Given the description of an element on the screen output the (x, y) to click on. 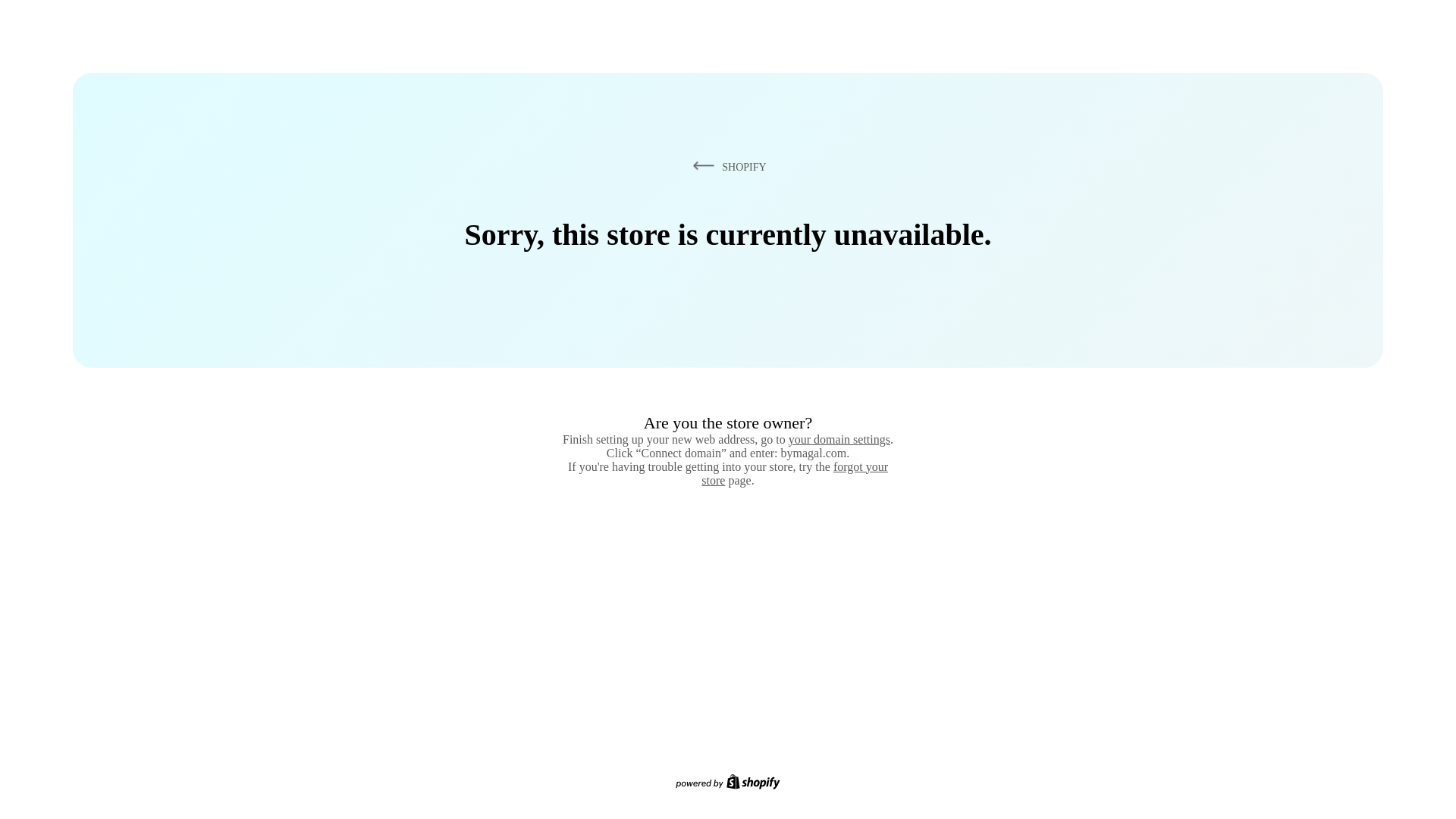
your domain settings (839, 439)
SHOPIFY (726, 166)
forgot your store (794, 473)
